Given the description of an element on the screen output the (x, y) to click on. 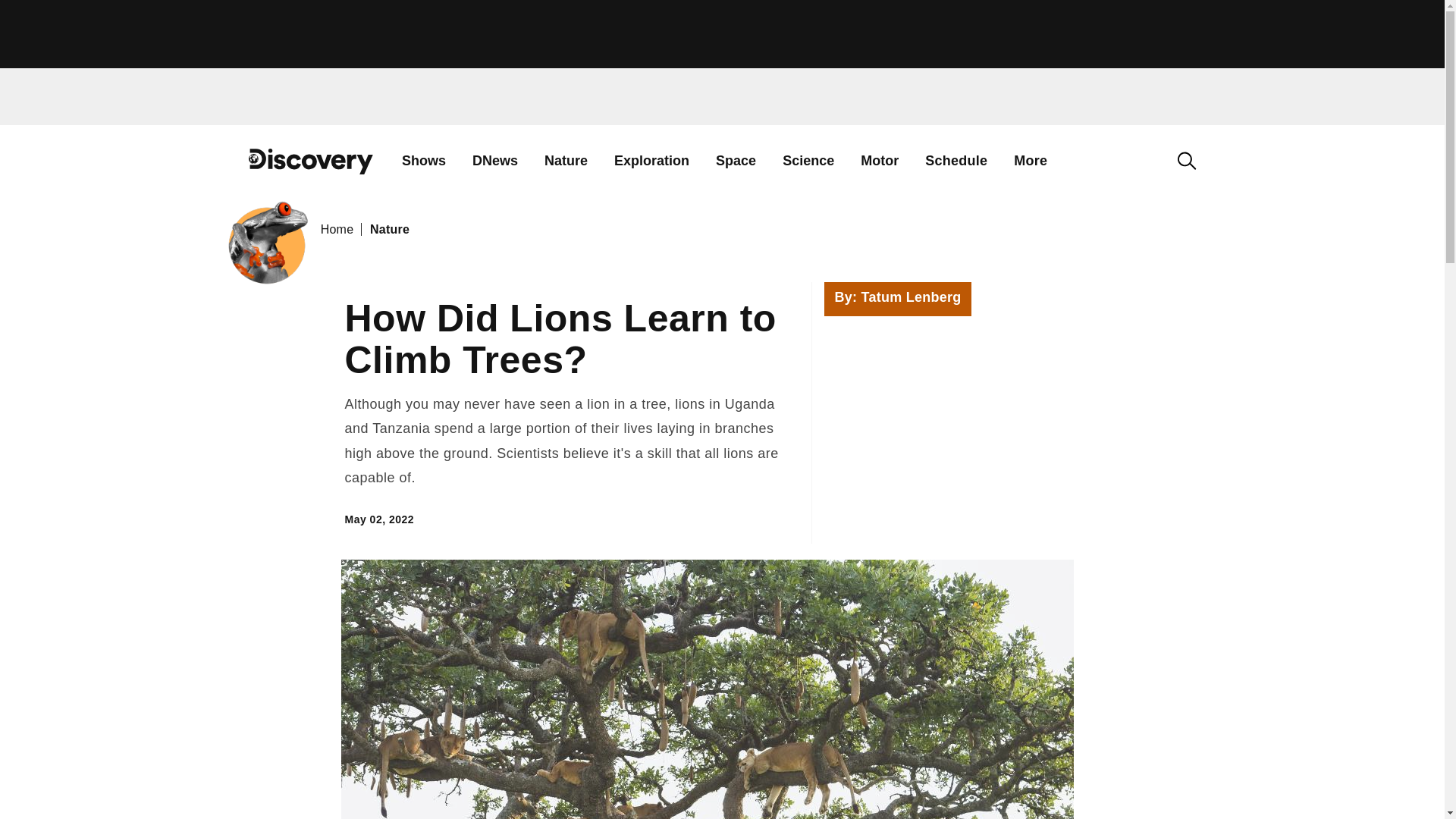
Shows (423, 161)
home (310, 173)
